Given the description of an element on the screen output the (x, y) to click on. 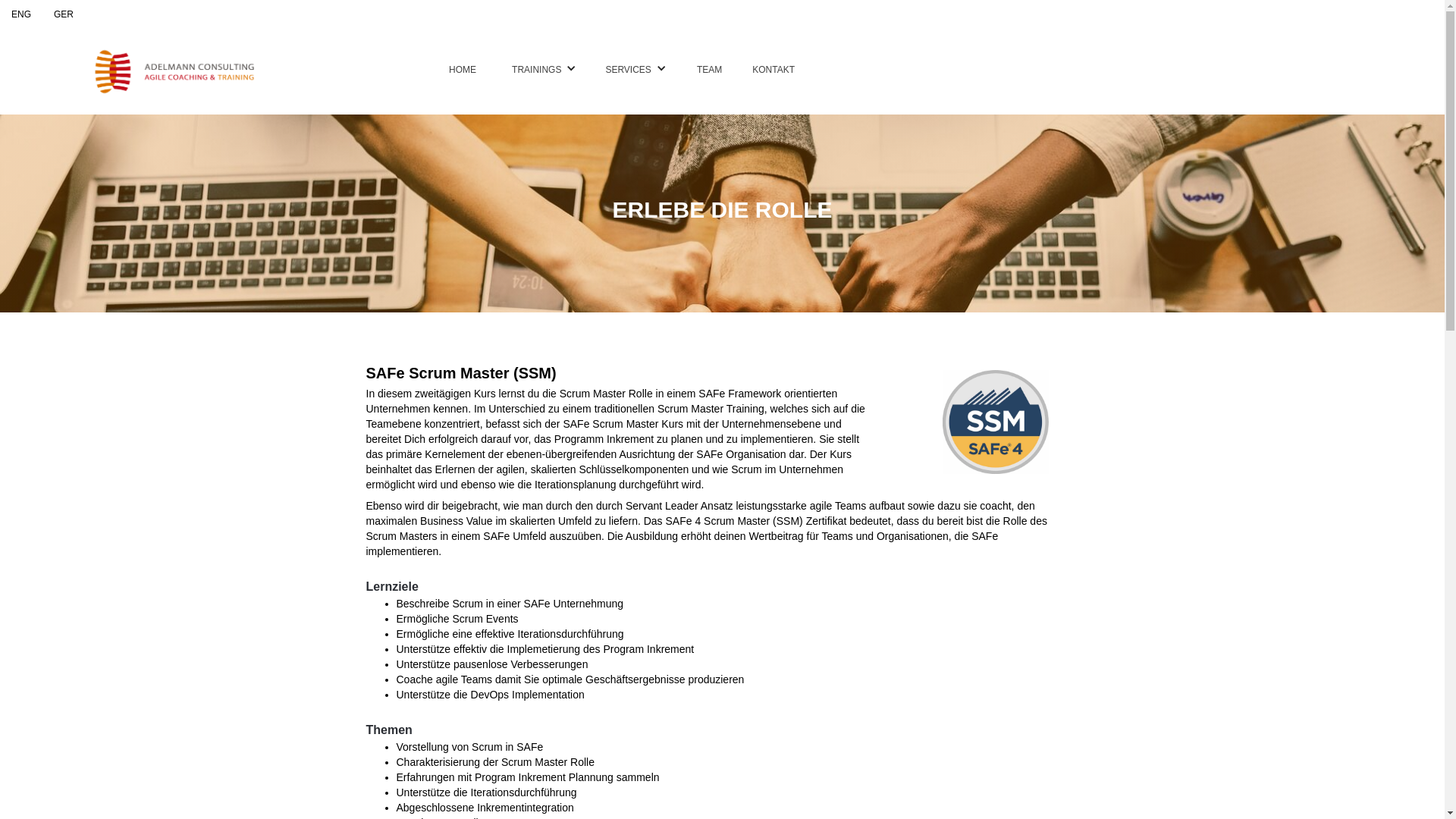
GER Element type: text (63, 14)
HOME Element type: text (462, 70)
KONTAKT Element type: text (773, 70)
TEAM Element type: text (708, 70)
ENG Element type: text (21, 14)
